Given the description of an element on the screen output the (x, y) to click on. 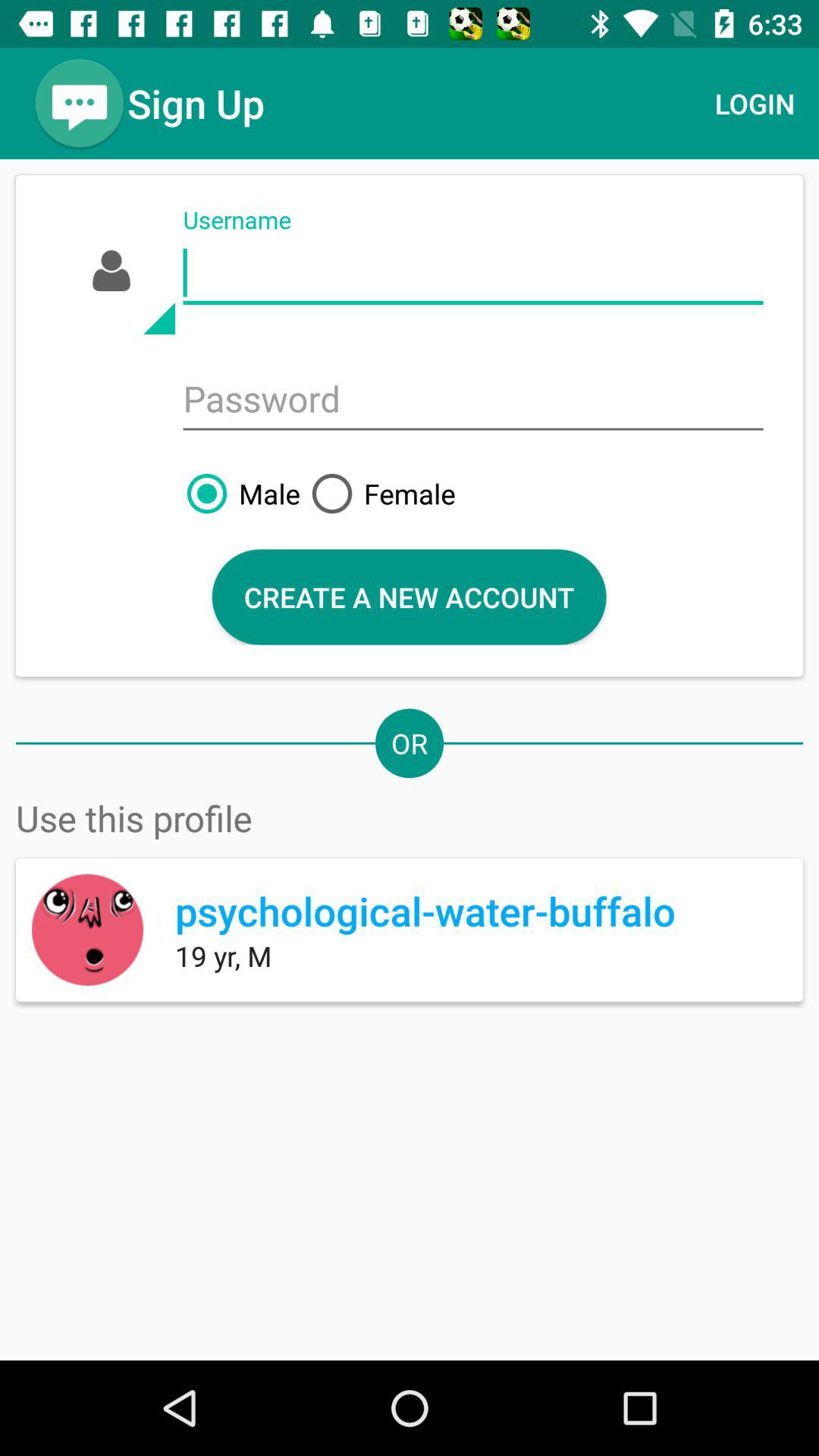
enter username (473, 273)
